Given the description of an element on the screen output the (x, y) to click on. 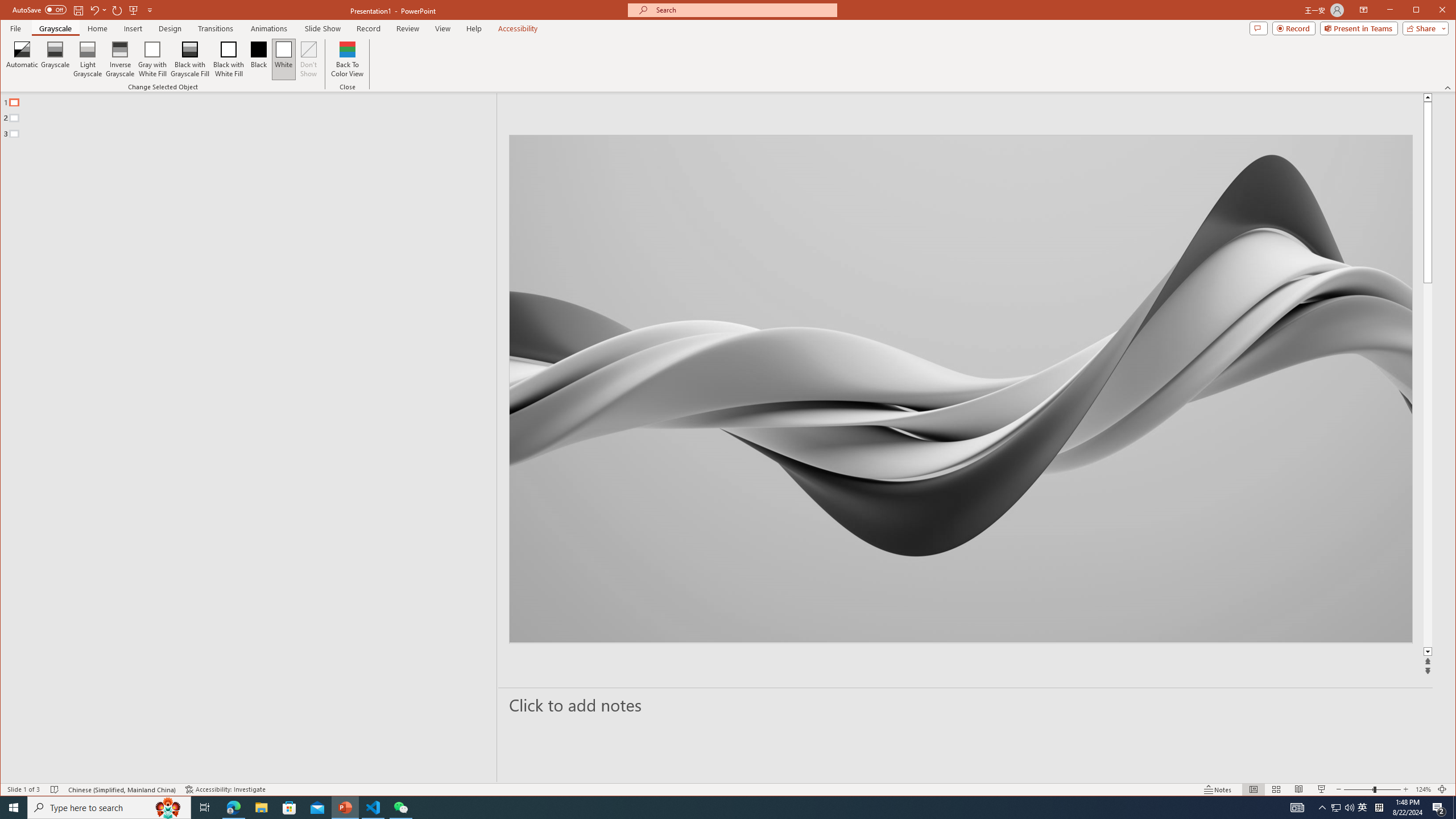
Action Center, 2 new notifications (1439, 807)
Microsoft Edge - 1 running window (233, 807)
